Given the description of an element on the screen output the (x, y) to click on. 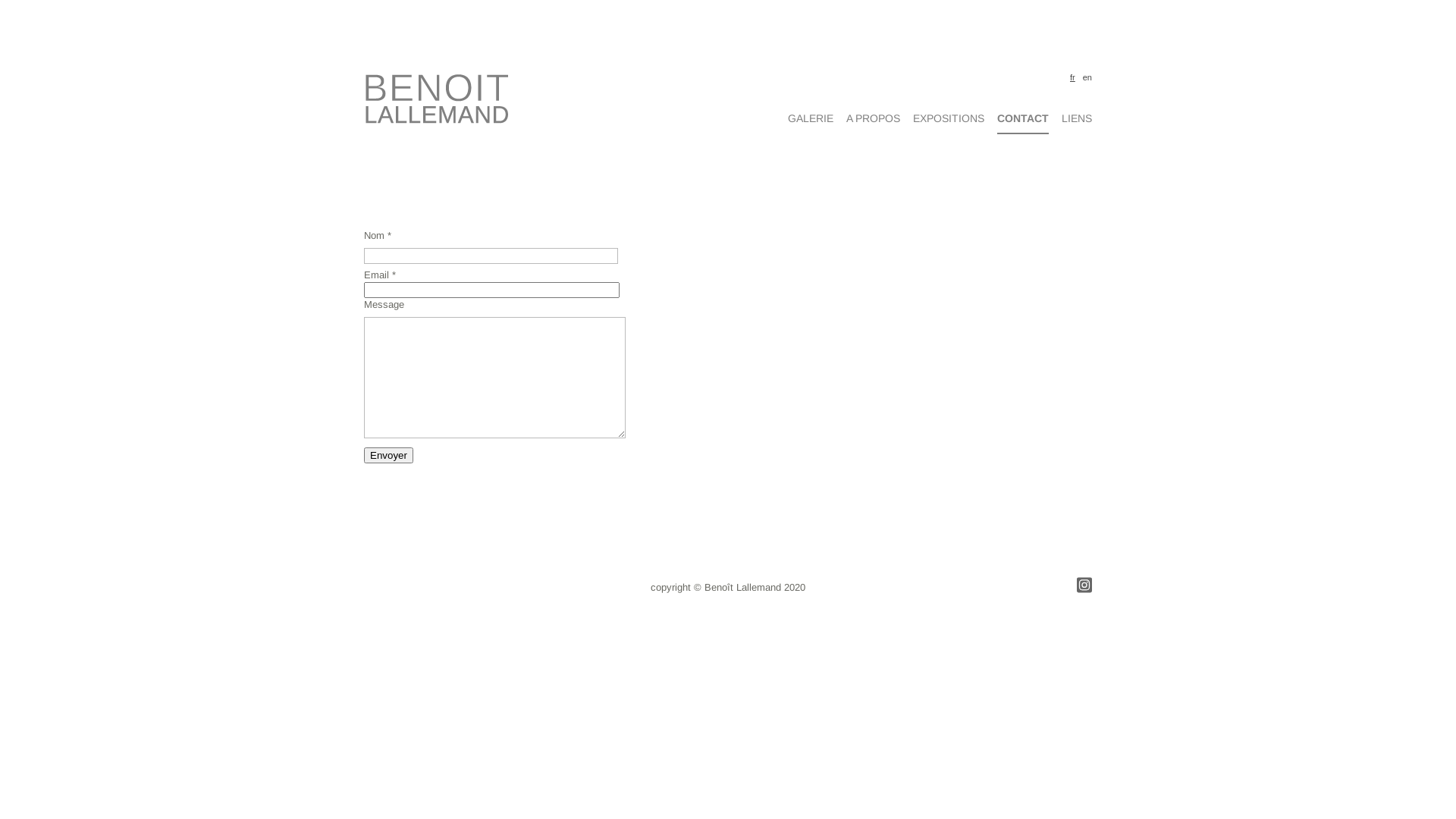
fr Element type: text (1070, 77)
GALERIE Element type: text (810, 118)
Envoyer Element type: text (388, 455)
  Element type: text (365, 207)
LIENS Element type: text (1076, 118)
CONTACT Element type: text (1022, 122)
en Element type: text (1085, 77)
A PROPOS Element type: text (873, 118)
EXPOSITIONS Element type: text (948, 118)
